Given the description of an element on the screen output the (x, y) to click on. 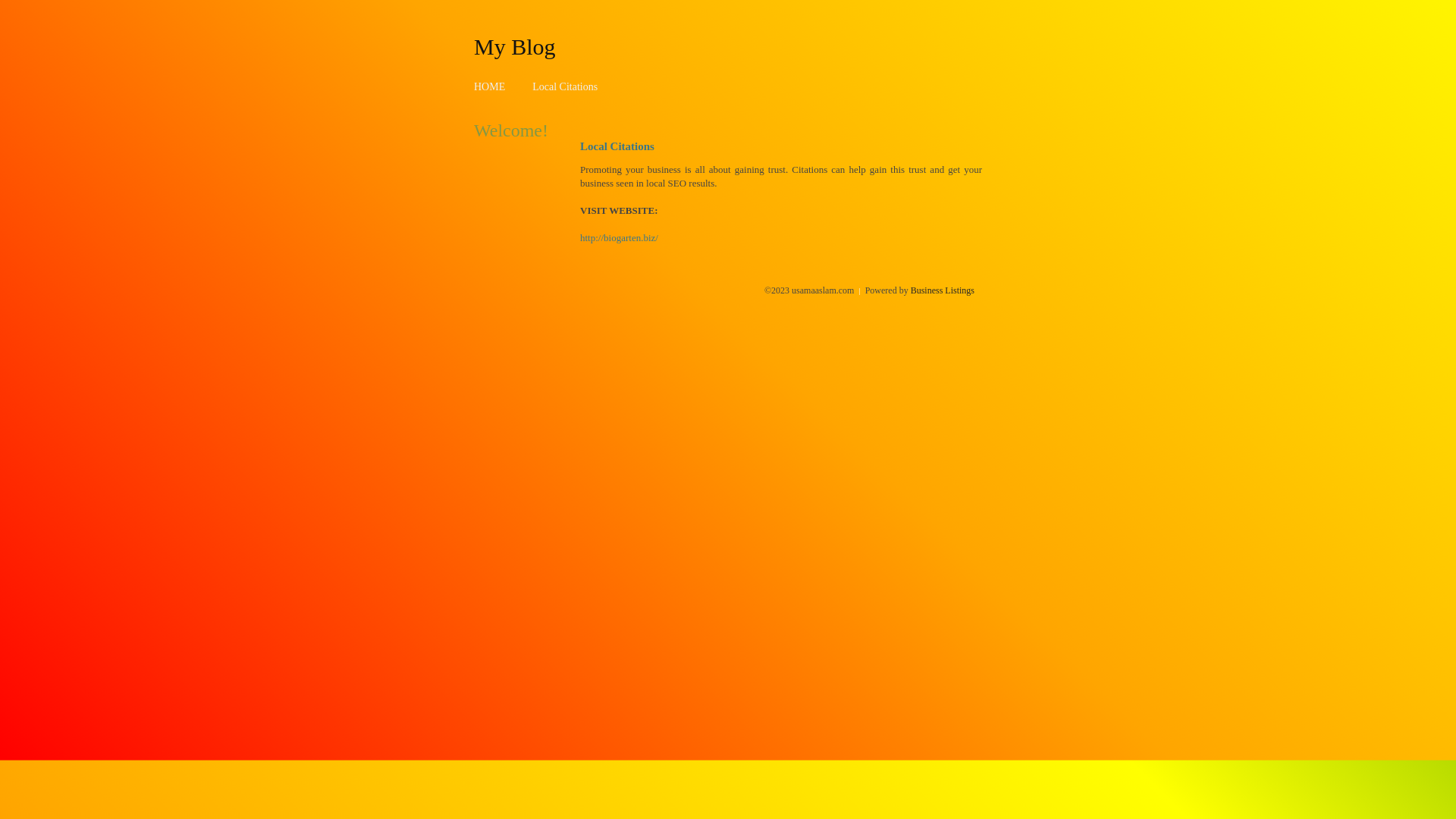
HOME Element type: text (489, 86)
Business Listings Element type: text (942, 290)
Local Citations Element type: text (564, 86)
My Blog Element type: text (514, 46)
http://biogarten.biz/ Element type: text (619, 237)
